Given the description of an element on the screen output the (x, y) to click on. 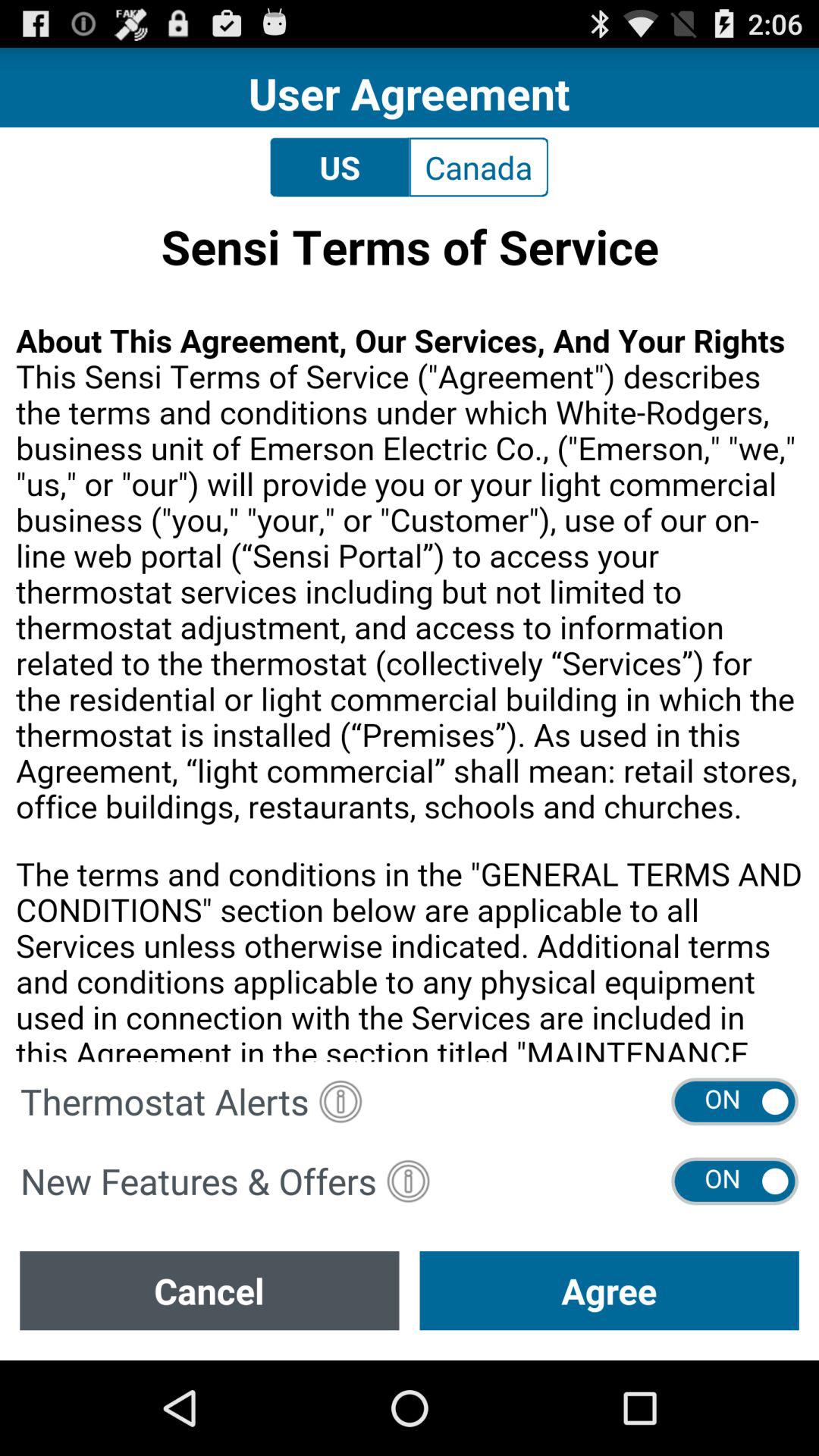
privacy policy (409, 634)
